Given the description of an element on the screen output the (x, y) to click on. 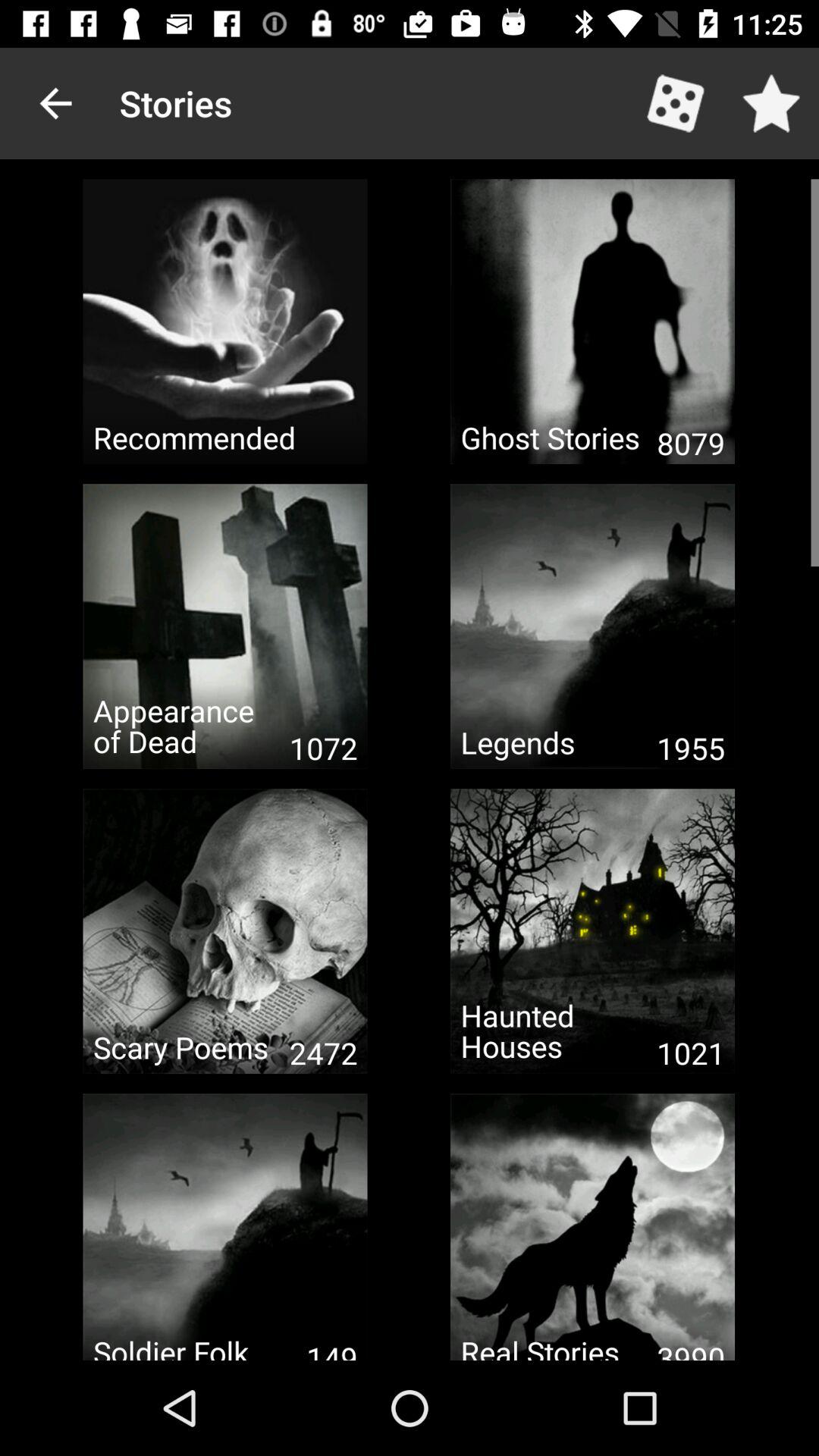
turn off icon to the left of the stories icon (55, 103)
